Given the description of an element on the screen output the (x, y) to click on. 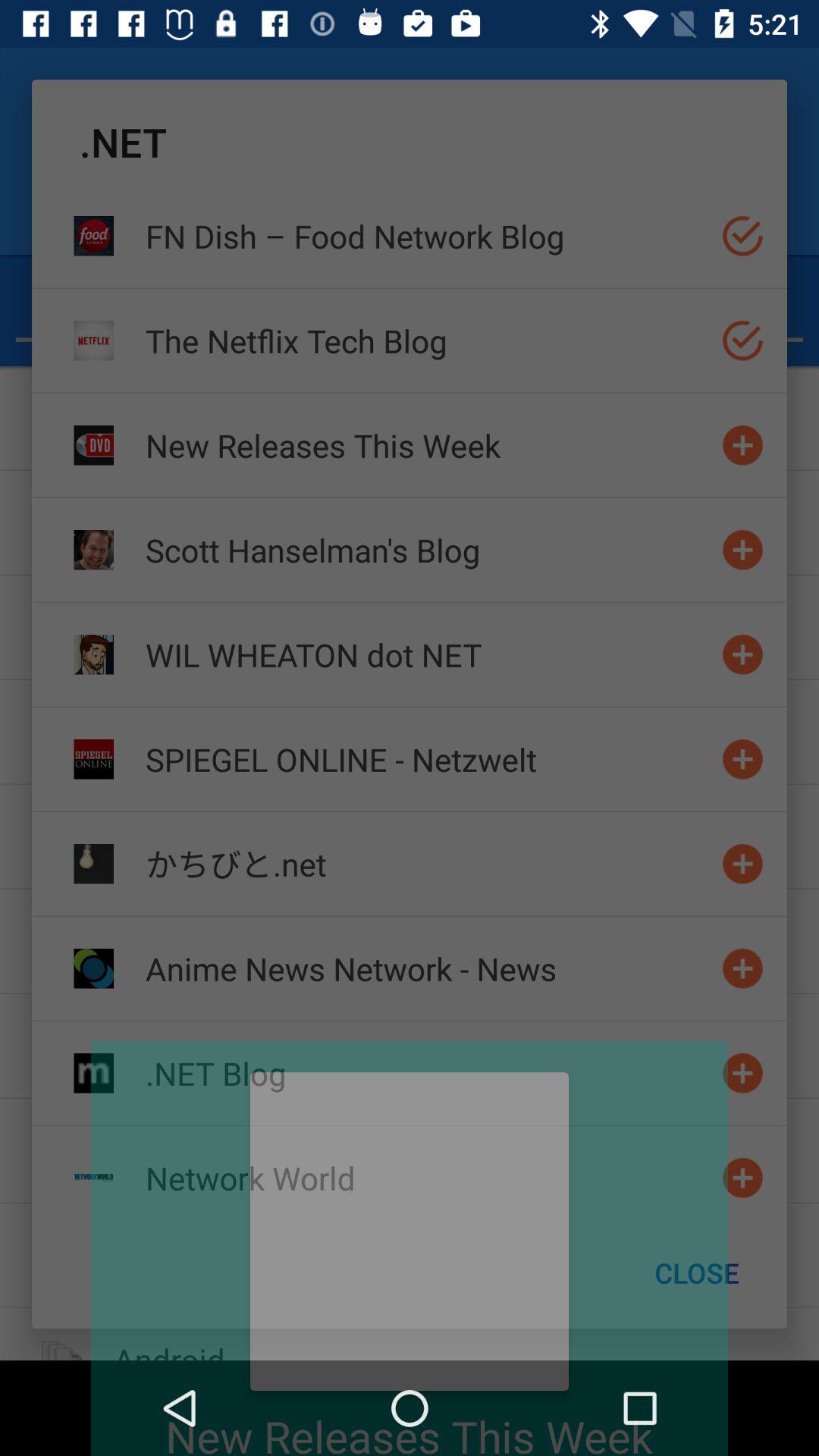
toggle a select option (742, 340)
